Given the description of an element on the screen output the (x, y) to click on. 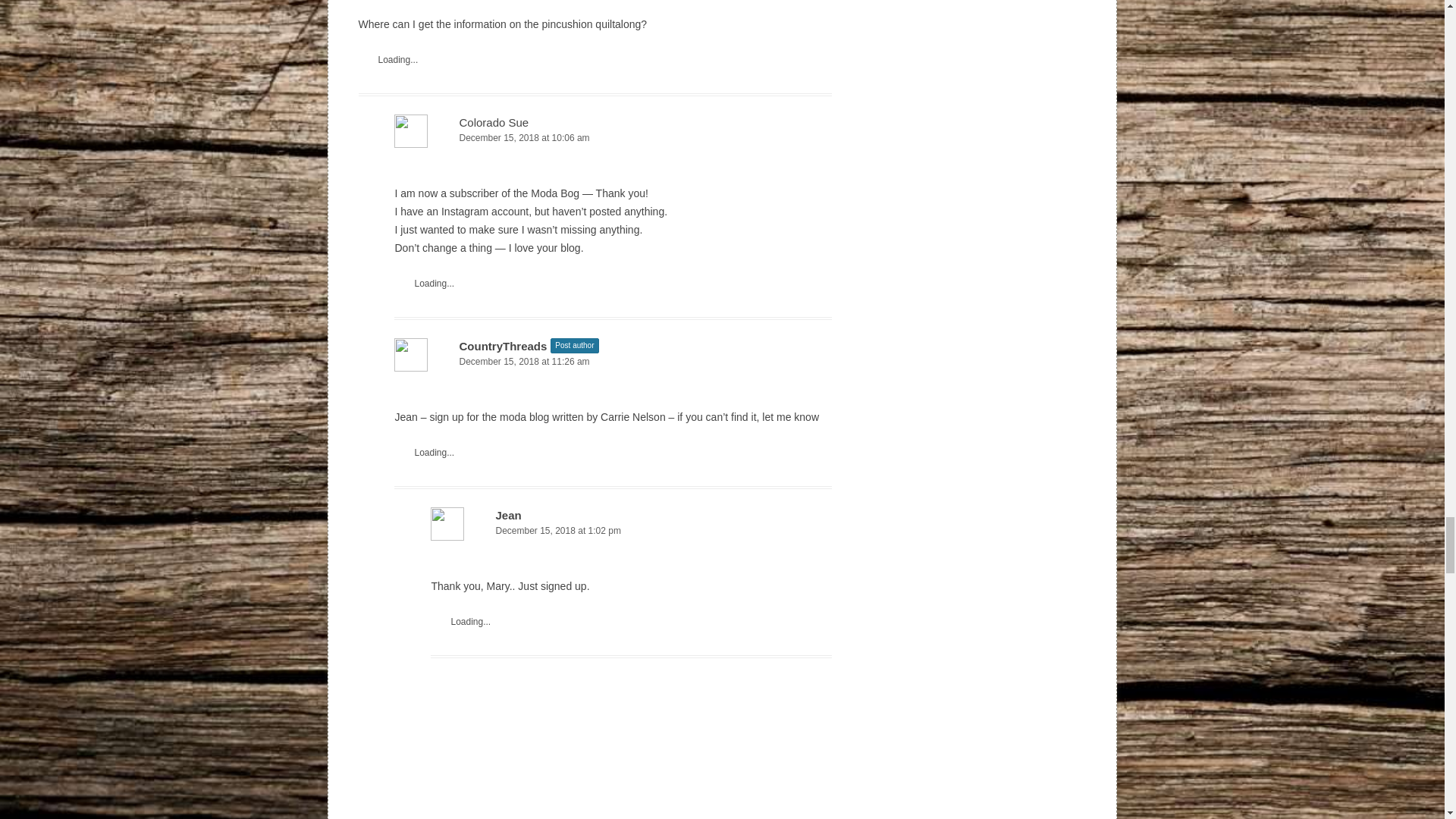
December 15, 2018 at 11:26 am (612, 361)
December 15, 2018 at 1:02 pm (630, 530)
December 15, 2018 at 10:06 am (612, 138)
